Given the description of an element on the screen output the (x, y) to click on. 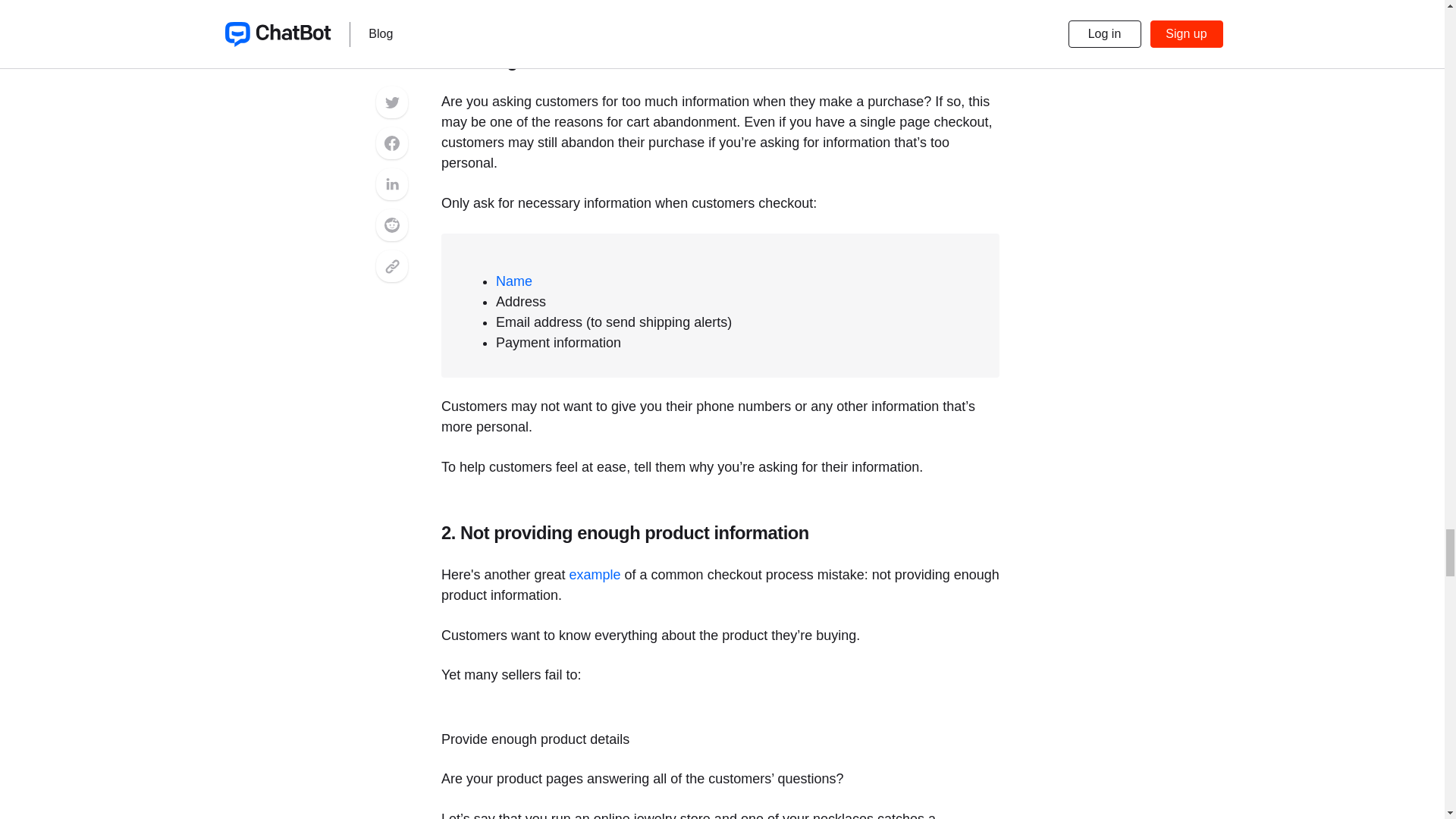
example (595, 574)
Name (514, 281)
